Given the description of an element on the screen output the (x, y) to click on. 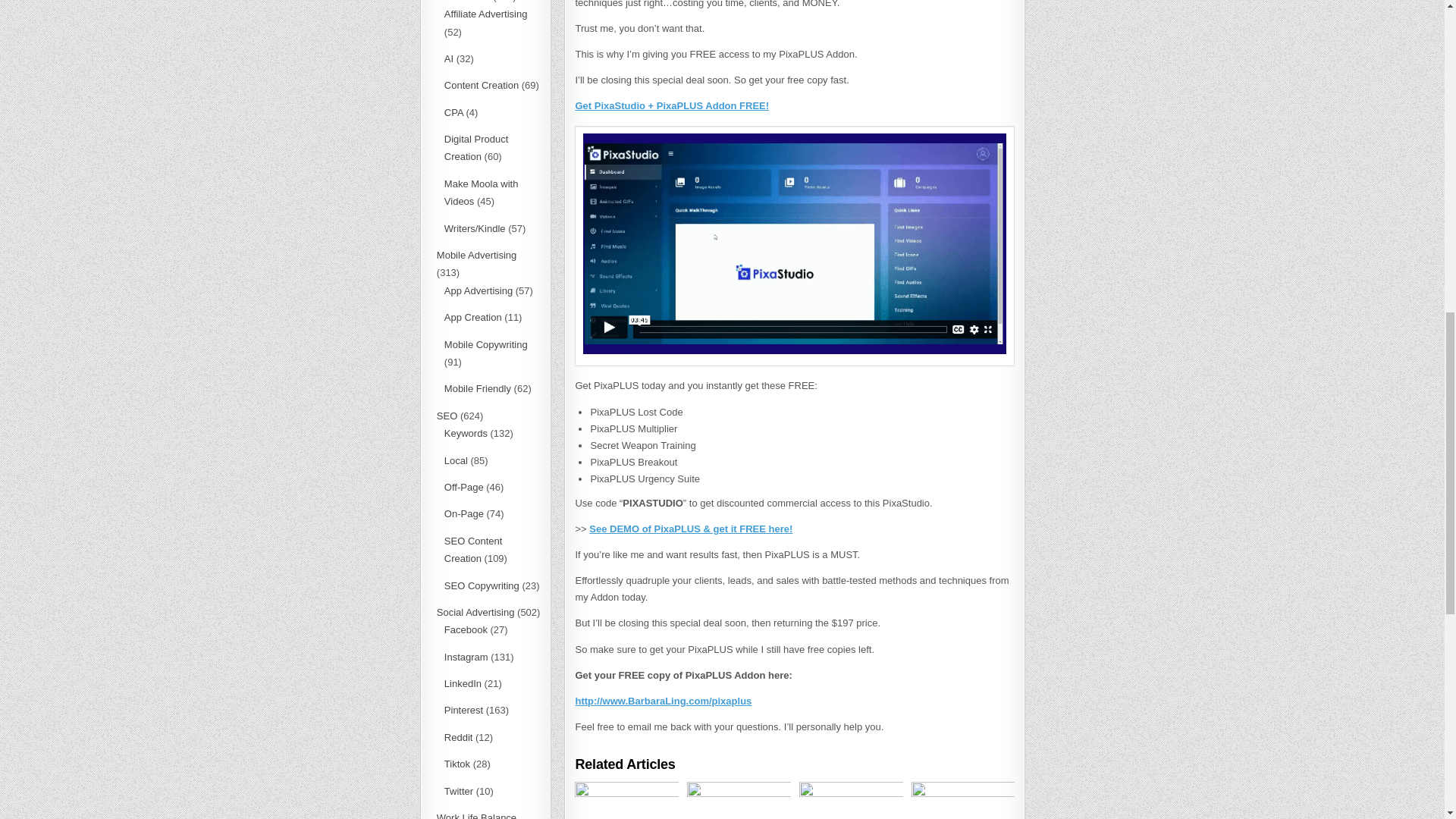
0 (584, 789)
17 Views (665, 789)
0 (697, 789)
Like this (584, 789)
